Given the description of an element on the screen output the (x, y) to click on. 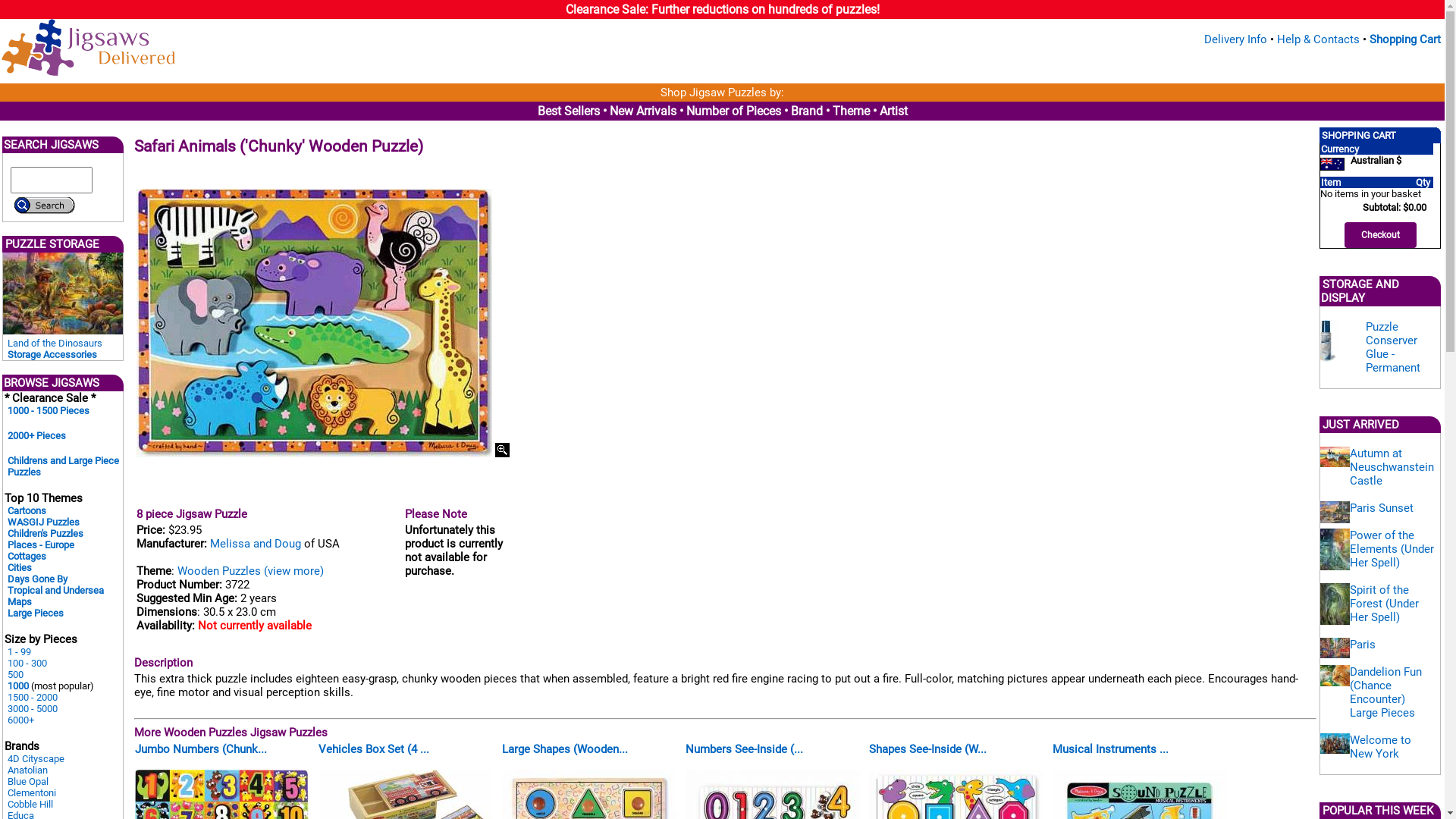
Childrens and Large Piece Puzzles Element type: text (63, 466)
Storage Accessories Element type: text (52, 354)
Best Sellers Element type: text (567, 110)
Melissa and Doug Element type: text (255, 543)
1000 Element type: text (17, 685)
Autumn at Neuschwanstein Castle Element type: text (1391, 466)
Power of the Elements (Under Her Spell) Element type: text (1391, 548)
1 - 99 Element type: text (19, 651)
Clementoni Element type: text (31, 792)
Brand Element type: text (806, 110)
4D Cityscape Element type: text (35, 758)
STORAGE AND DISPLAY Element type: text (1360, 291)
Paris Sunset Element type: text (1381, 507)
6000+ Element type: text (20, 719)
Cottages Element type: text (26, 555)
100 - 300 Element type: text (27, 662)
Theme Element type: text (850, 110)
More Wooden Puzzles Jigsaw Puzzles Element type: text (230, 732)
Cartoons Element type: text (26, 510)
Maps Element type: text (19, 601)
Land of the Dinosaurs Element type: text (54, 342)
Places - Europe Element type: text (40, 544)
Cobble Hill Element type: text (30, 803)
Click to view larger image Element type: hover (502, 449)
Shopping Cart Element type: text (1404, 39)
Checkout Element type: text (1380, 234)
Clearance Sale: Further reductions on hundreds of puzzles! Element type: text (722, 9)
Jigsaws Delivered Element type: hover (87, 46)
Number of Pieces Element type: text (732, 110)
Puzzle Conserver Glue - Permanent Element type: text (1392, 347)
2000+ Pieces Element type: text (36, 435)
Days Gone By Element type: text (37, 578)
JUST ARRIVED Element type: text (1360, 424)
Spirit of the Forest (Under Her Spell) Element type: text (1383, 603)
3000 - 5000 Element type: text (32, 708)
WASGIJ Puzzles Element type: text (43, 521)
1000 - 1500 Pieces Element type: text (48, 410)
Children's Puzzles Element type: text (45, 533)
Help & Contacts Element type: text (1318, 39)
Anatolian Element type: text (27, 769)
Welcome to New York Element type: text (1380, 746)
500 Element type: text (15, 674)
Artist Element type: text (893, 110)
Wooden Puzzles (view more) Element type: text (250, 570)
Blue Opal Element type: text (27, 781)
Dandelion Fun (Chance Encounter) Large Pieces Element type: text (1385, 692)
Delivery Info Element type: text (1235, 39)
PUZZLE STORAGE Element type: text (51, 243)
Tropical and Undersea Element type: text (55, 590)
Large Pieces Element type: text (35, 612)
Cities Element type: text (19, 567)
New Arrivals Element type: text (642, 110)
Paris Element type: text (1362, 644)
1500 - 2000 Element type: text (32, 696)
